Given the description of an element on the screen output the (x, y) to click on. 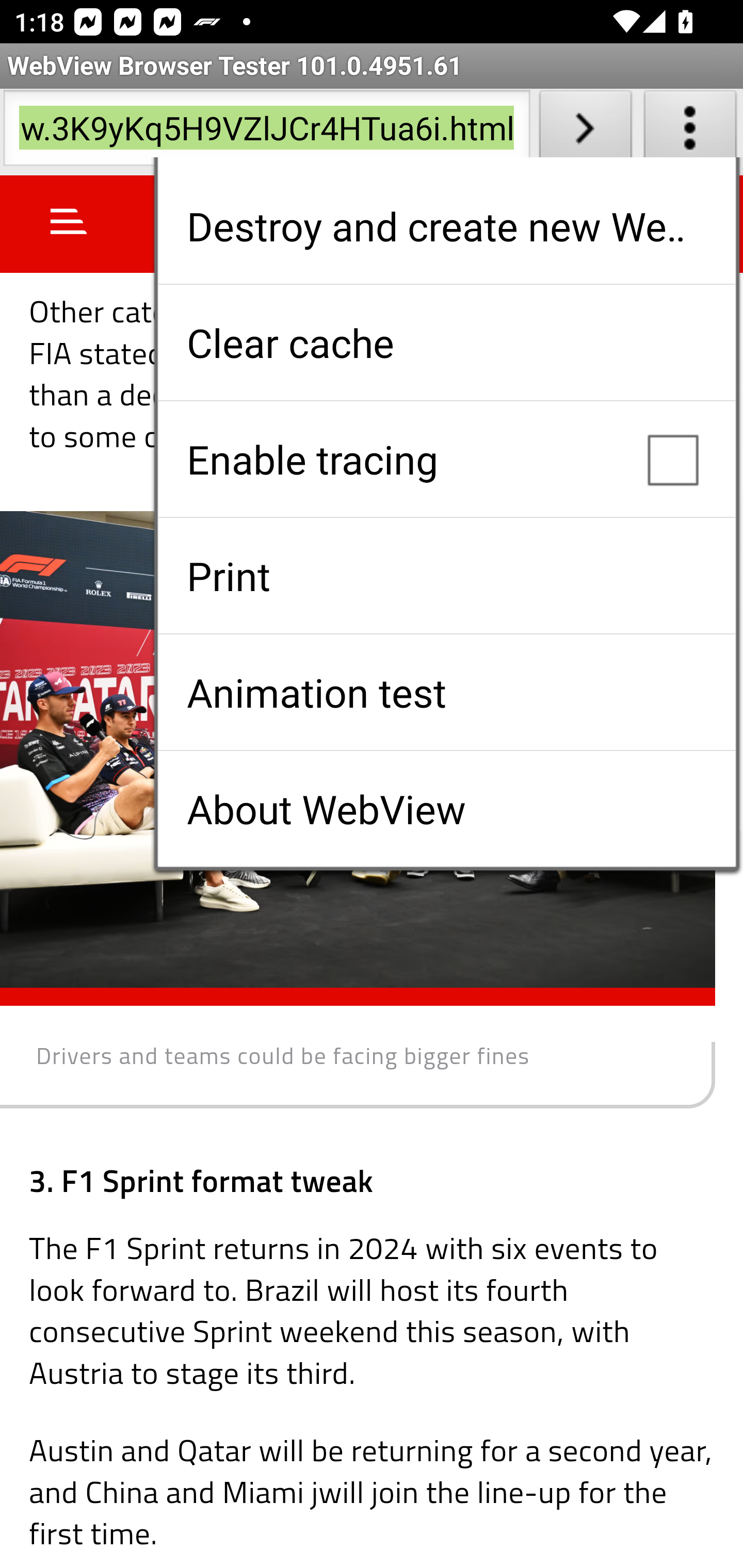
Destroy and create new WebView (446, 225)
Clear cache (446, 342)
Enable tracing (446, 459)
Print (446, 575)
Animation test (446, 692)
About WebView (446, 809)
